Given the description of an element on the screen output the (x, y) to click on. 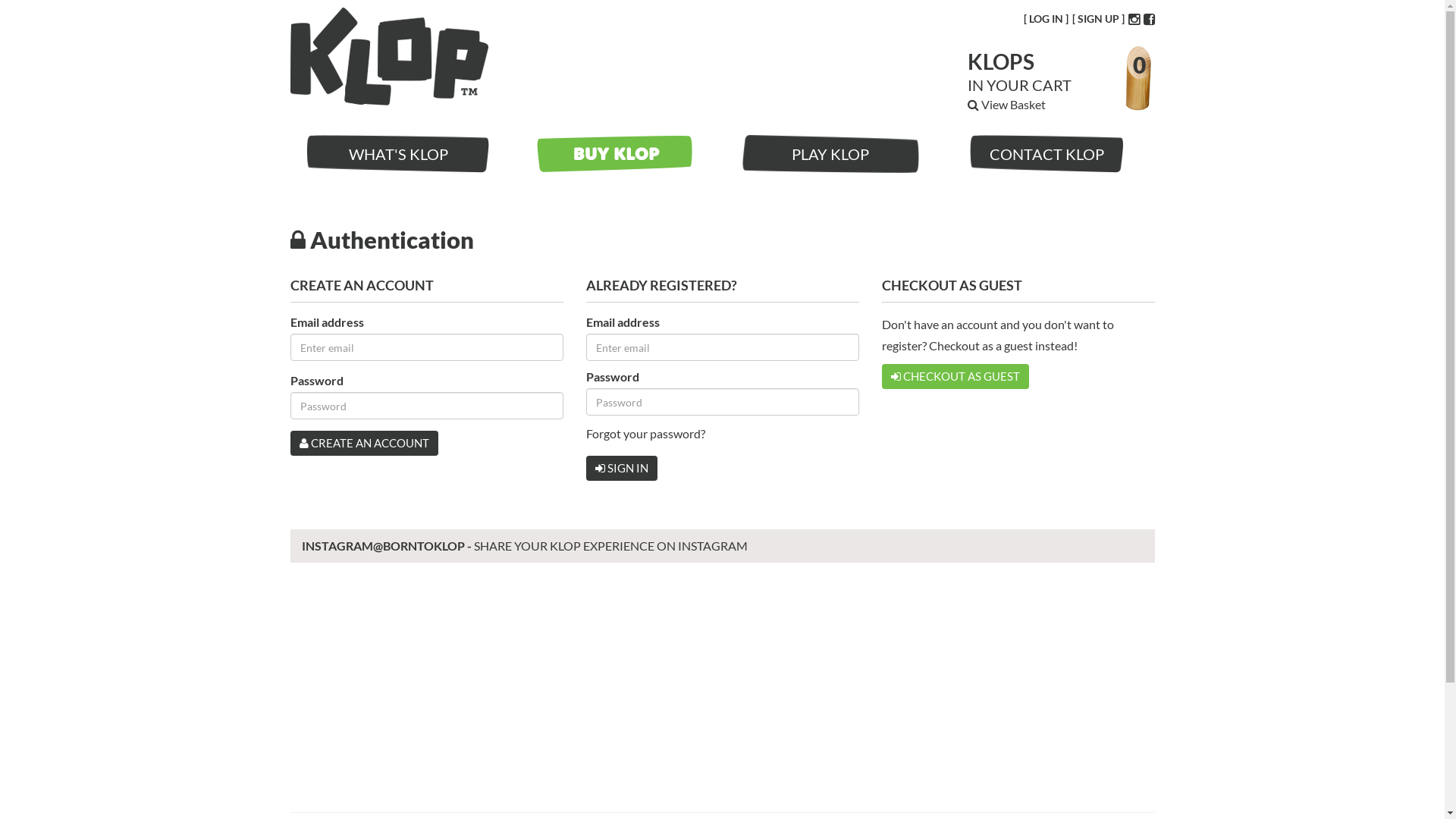
SIGN IN Element type: text (620, 467)
[ SIGN UP ] Element type: text (1098, 18)
WHAT'S KLOP Element type: text (397, 153)
CREATE AN ACCOUNT Element type: text (363, 442)
PLAY KLOP Element type: text (829, 153)
Forgot your password? Element type: text (644, 433)
CHECKOUT AS GUEST Element type: text (954, 376)
0 Element type: text (1139, 64)
[ LOG IN ] Element type: text (1045, 18)
CONTACT KLOP Element type: text (1046, 153)
BUY KLOP Element type: text (614, 153)
View Basket Element type: text (1006, 104)
